Given the description of an element on the screen output the (x, y) to click on. 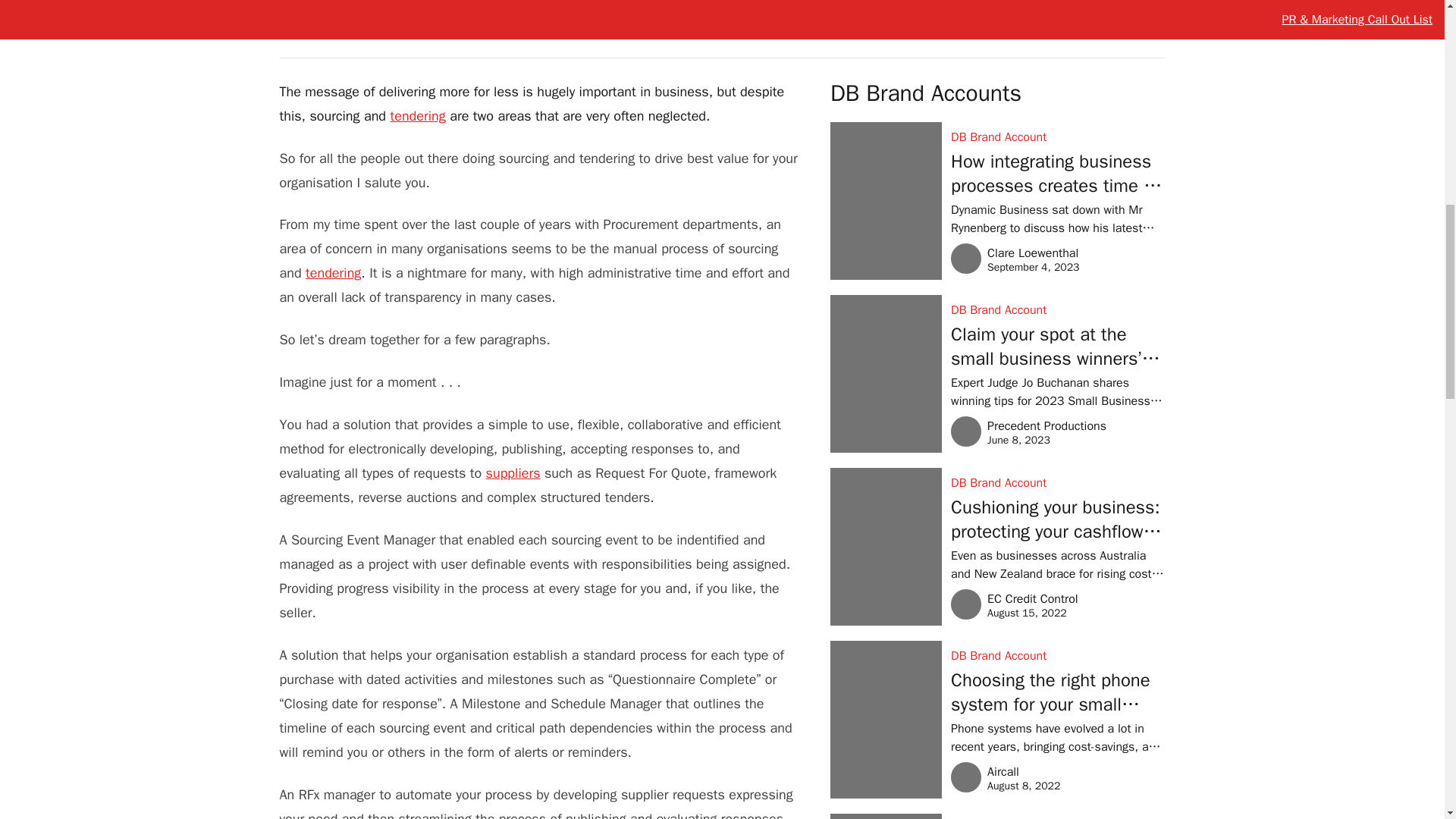
tendering (333, 272)
tendering (417, 115)
suppliers (346, 20)
